Given the description of an element on the screen output the (x, y) to click on. 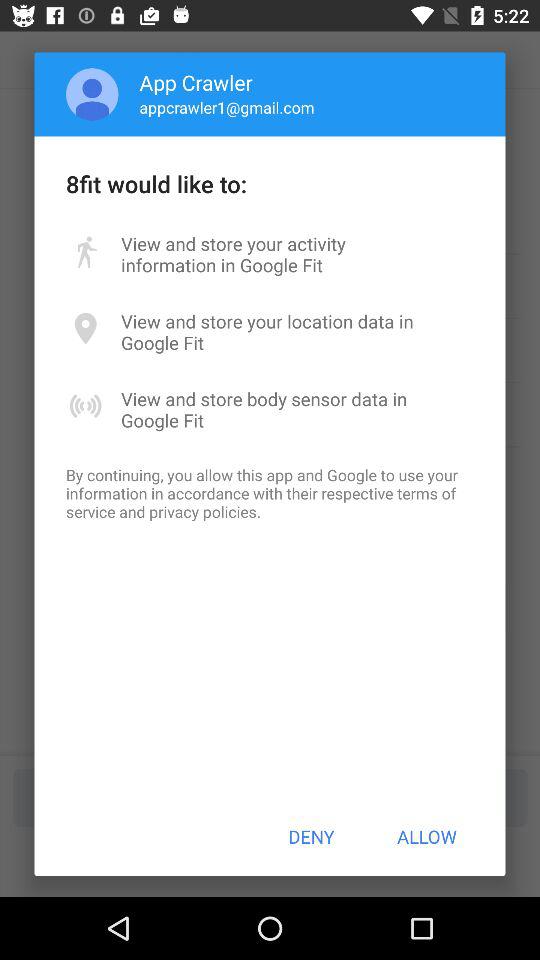
launch app above the 8fit would like icon (92, 94)
